Given the description of an element on the screen output the (x, y) to click on. 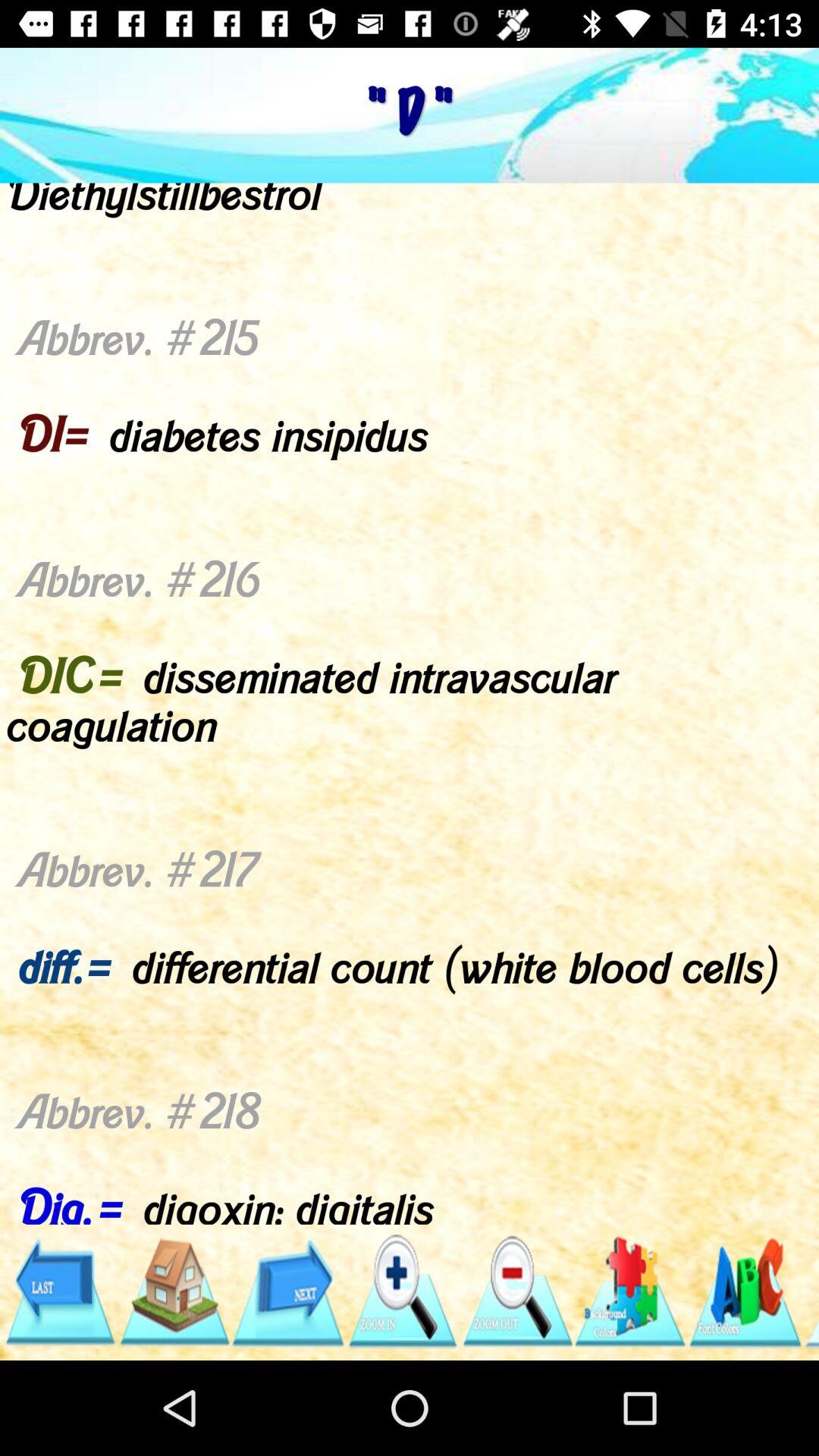
open icon below abbrev 	209	 	d (810, 1291)
